Given the description of an element on the screen output the (x, y) to click on. 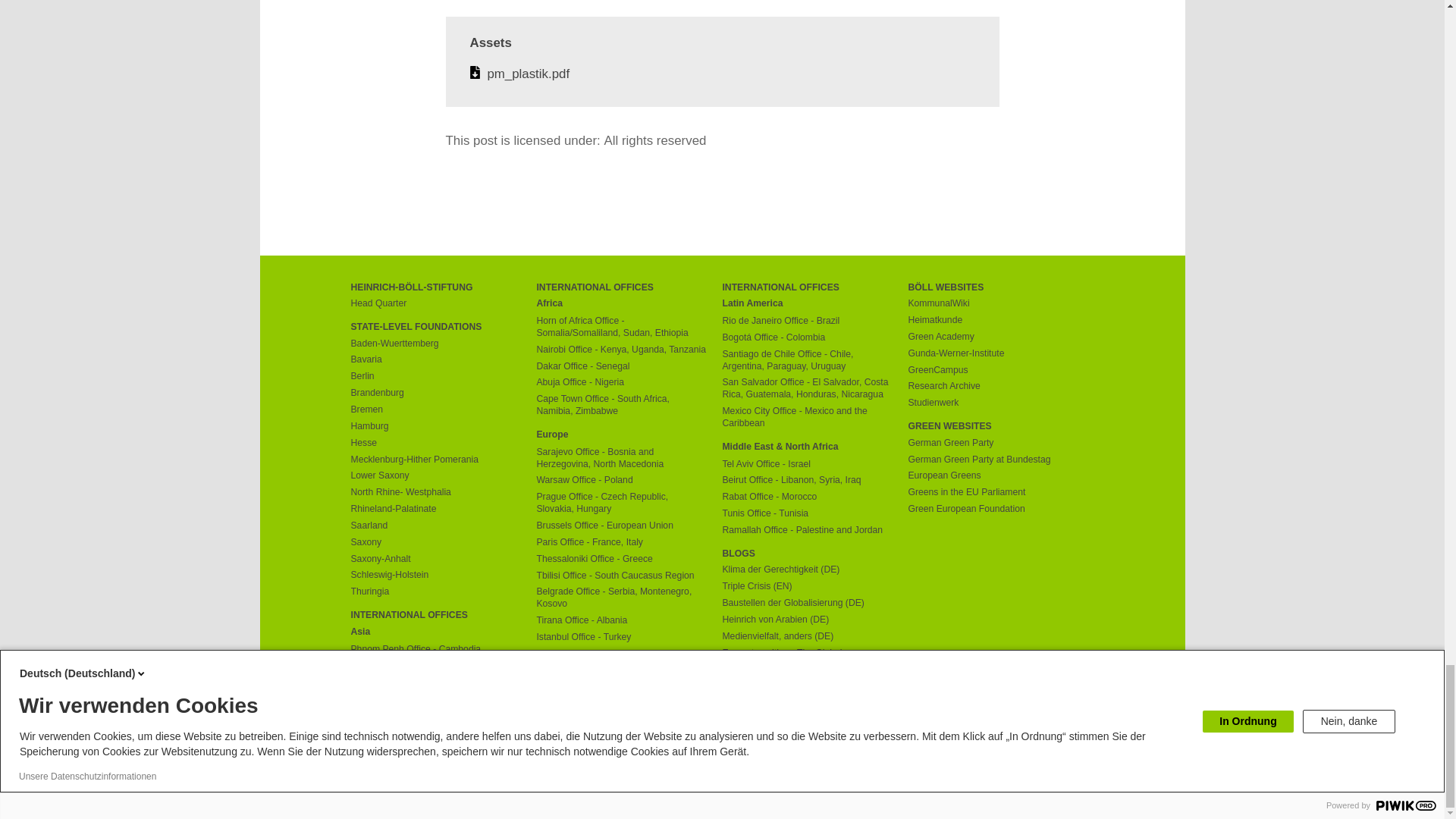
Lower Saxony (435, 476)
Berlin (435, 377)
Bavaria (435, 359)
Baden-Wuerttemberg (435, 344)
Rhineland-Palatinate (435, 509)
Mecklenburg-Hither Pomerania (435, 460)
Bremen (435, 410)
Hesse (435, 443)
Saarland (435, 526)
Brandenburg (435, 393)
North Rhine- Westphalia (435, 492)
Head Quarter (435, 304)
Hamburg (435, 426)
